Given the description of an element on the screen output the (x, y) to click on. 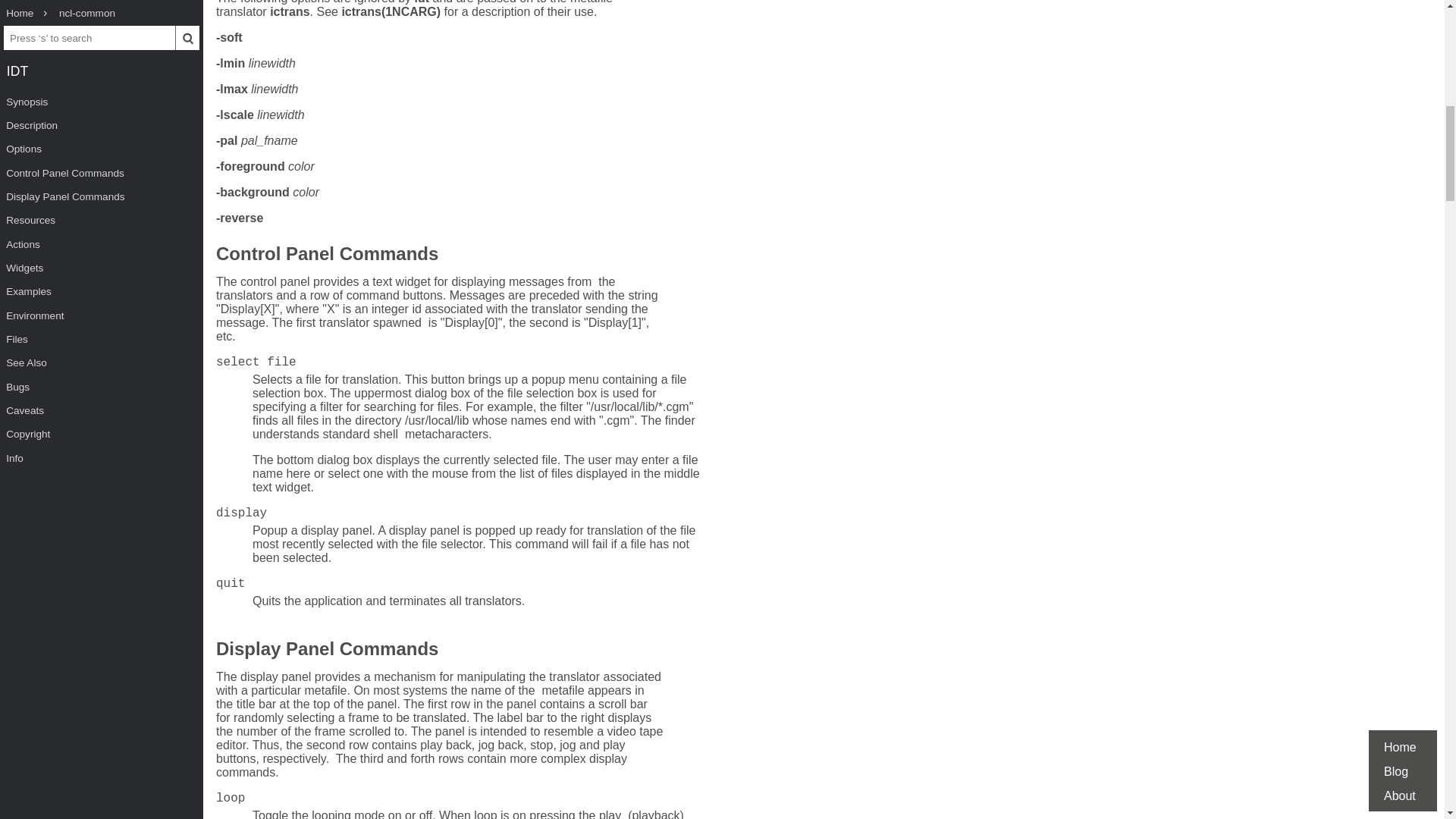
Control Panel Commands (326, 255)
Display Panel Commands (326, 650)
